Given the description of an element on the screen output the (x, y) to click on. 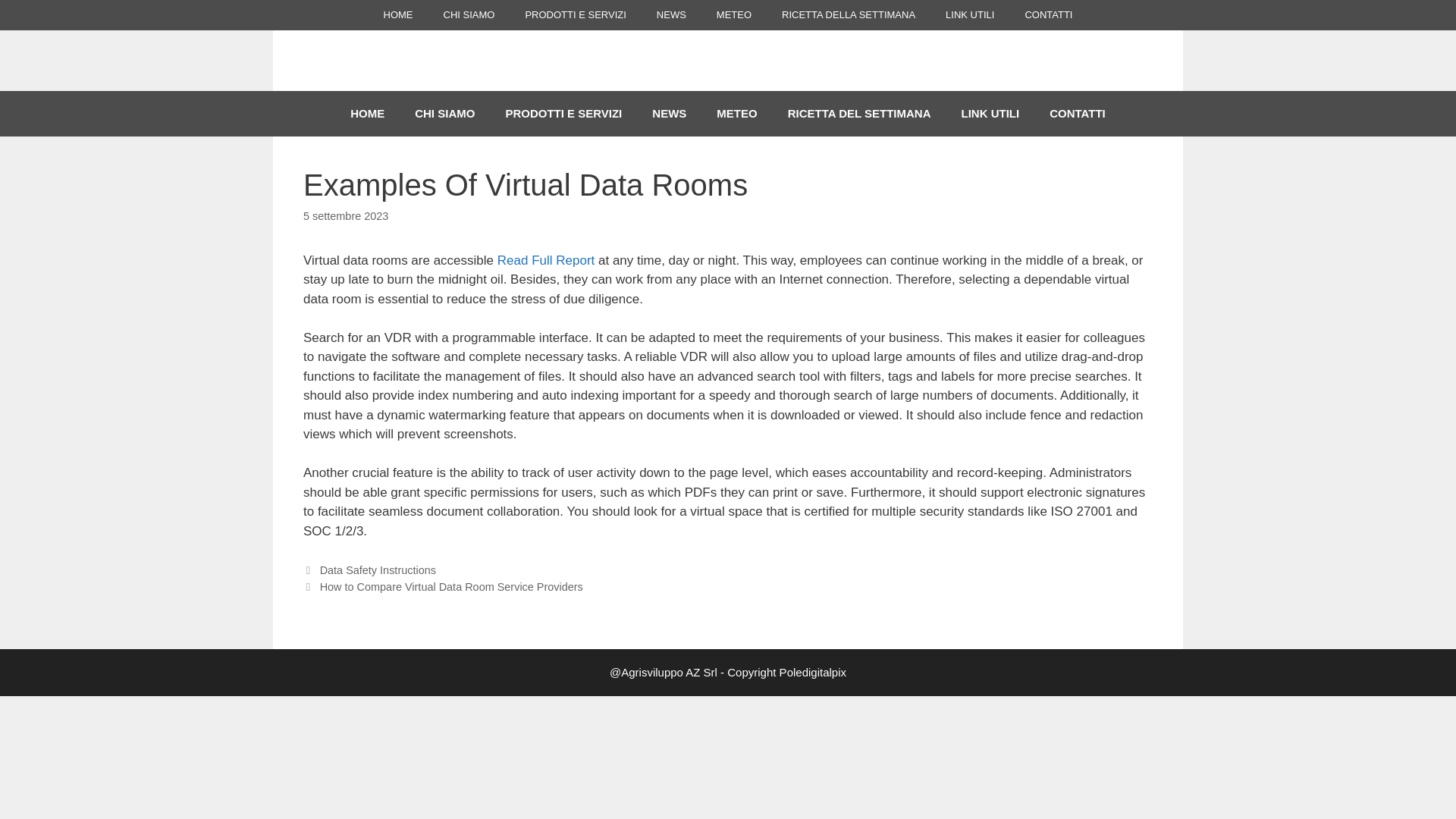
Precedente (368, 570)
PRODOTTI E SERVIZI (574, 15)
LINK UTILI (969, 15)
Vai al contenuto (45, 9)
CHI SIAMO (443, 113)
HOME (398, 15)
Read Full Report (546, 260)
PRODOTTI E SERVIZI (563, 113)
RICETTA DELLA SETTIMANA (848, 15)
HOME (366, 113)
